Given the description of an element on the screen output the (x, y) to click on. 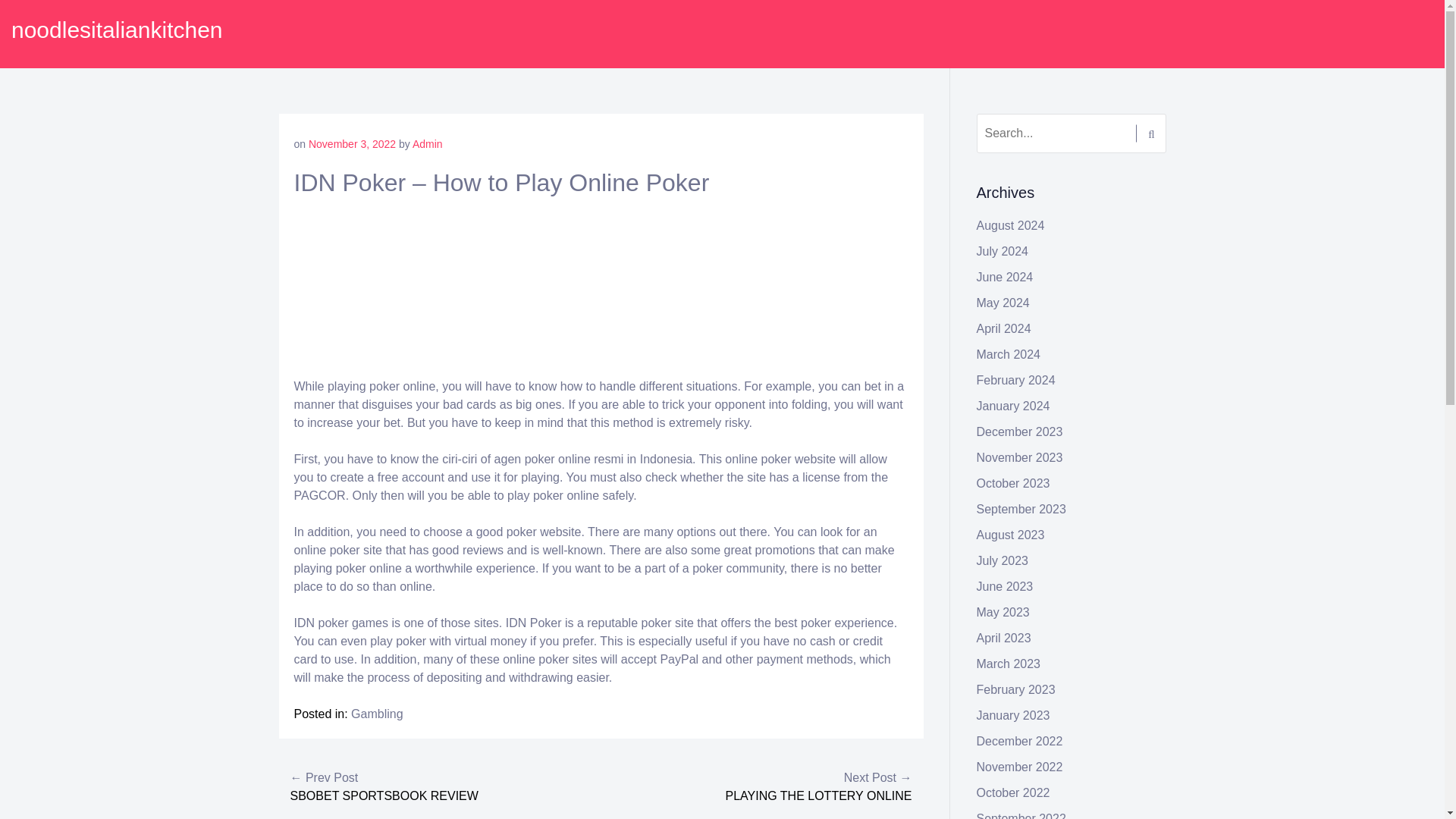
November 2023 (1019, 457)
January 2024 (1012, 405)
December 2023 (1019, 431)
July 2023 (1002, 560)
Admin (427, 143)
November 2022 (1019, 766)
October 2022 (1012, 792)
May 2023 (1002, 612)
February 2023 (1015, 689)
March 2023 (1008, 663)
